Given the description of an element on the screen output the (x, y) to click on. 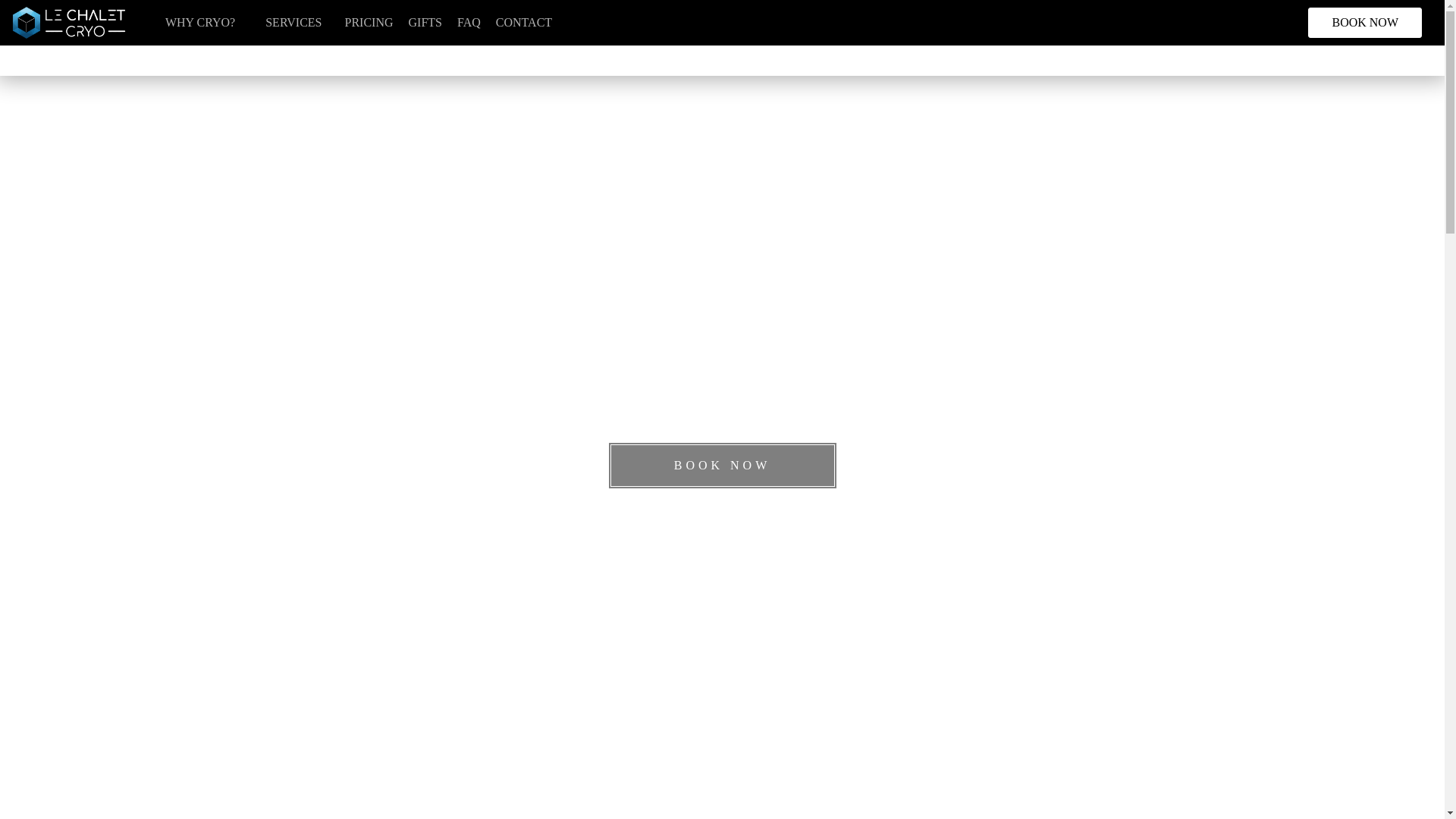
BOOK NOW (1364, 21)
SERVICES (293, 22)
CONTACT (523, 22)
BOOK NOW (721, 465)
FAQ (468, 22)
SCROLL TO SEE MORE (722, 769)
GIFTS (425, 22)
PRICING (369, 22)
WHY CRYO? (200, 22)
